Given the description of an element on the screen output the (x, y) to click on. 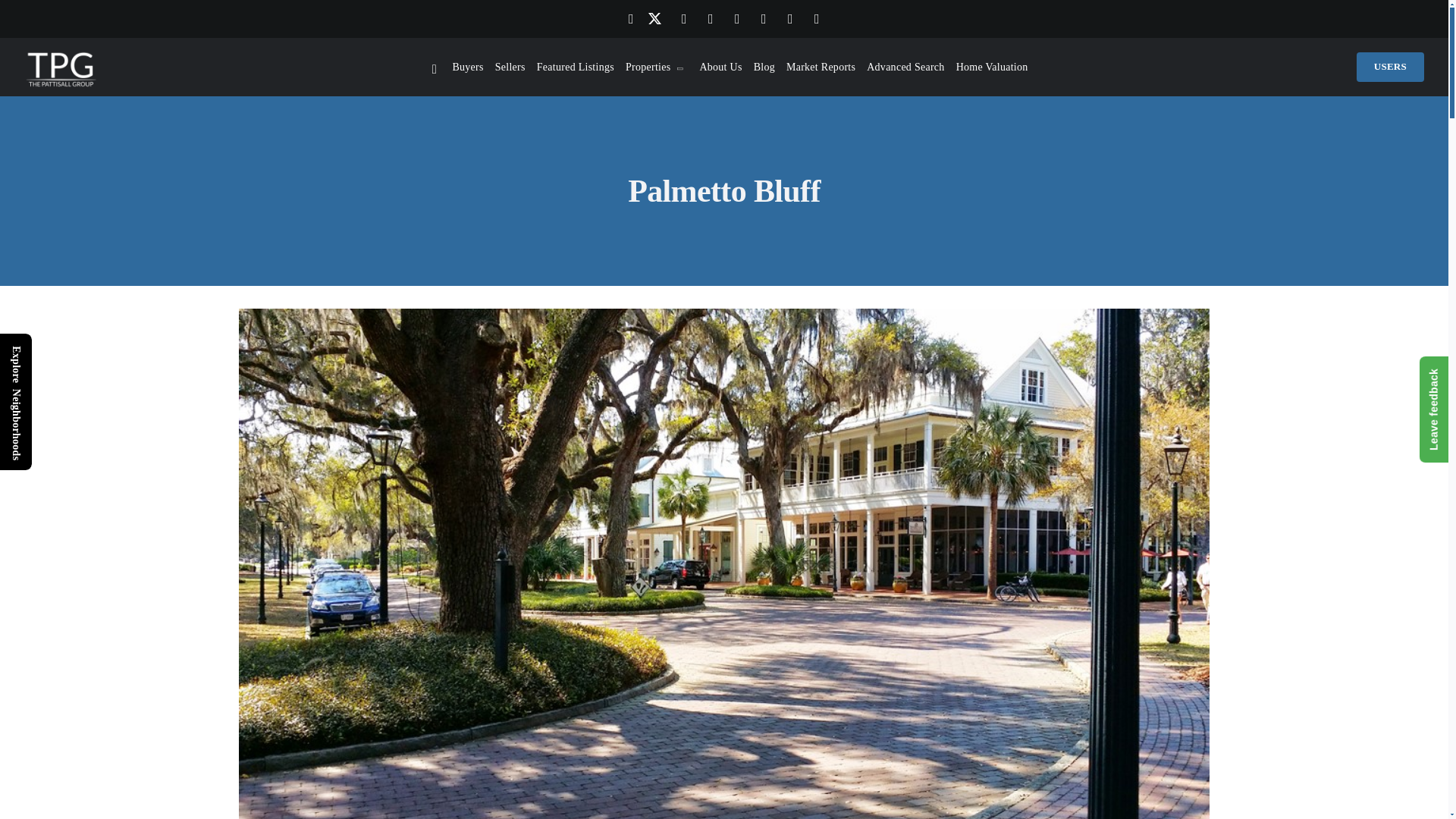
Buyers (467, 67)
Properties (656, 67)
Featured Listings (575, 67)
Sellers (510, 67)
